Given the description of an element on the screen output the (x, y) to click on. 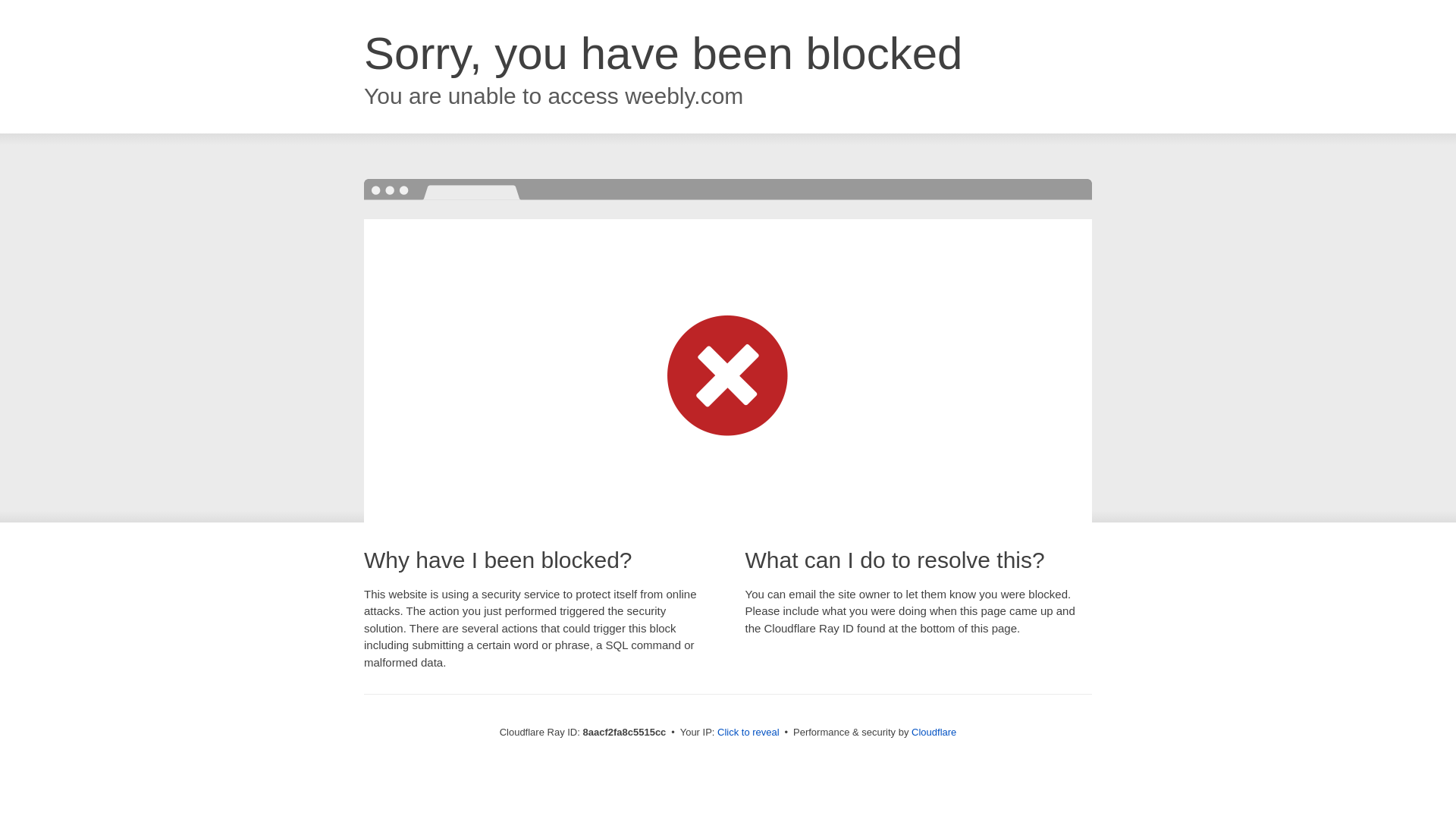
Cloudflare (933, 731)
Click to reveal (747, 732)
